Given the description of an element on the screen output the (x, y) to click on. 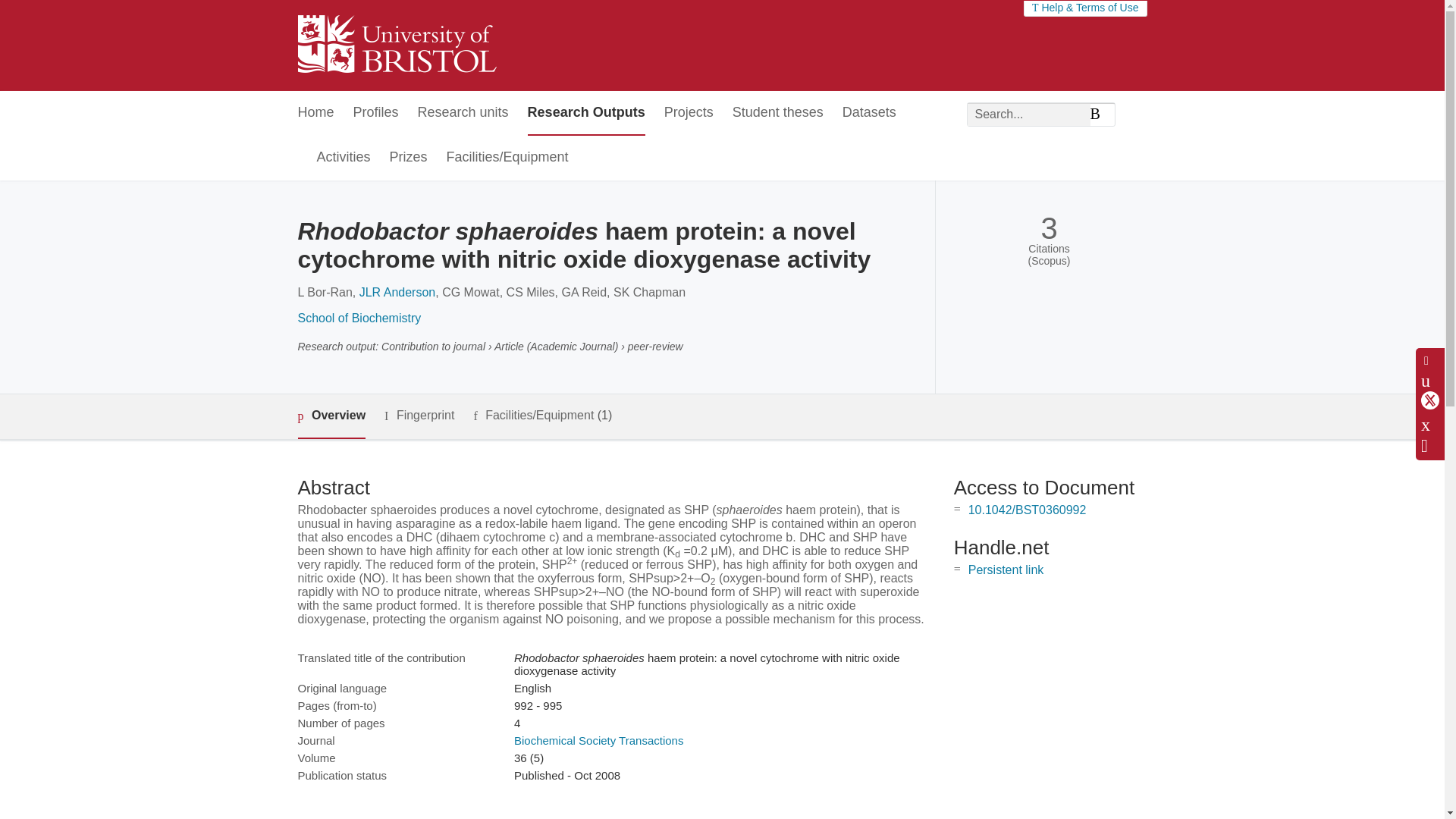
Persistent link (1005, 569)
Datasets (869, 112)
JLR Anderson (397, 291)
Activities (344, 157)
School of Biochemistry (358, 318)
Research units (462, 112)
Biochemical Society Transactions (597, 739)
Student theses (778, 112)
University of Bristol Home (396, 45)
